Given the description of an element on the screen output the (x, y) to click on. 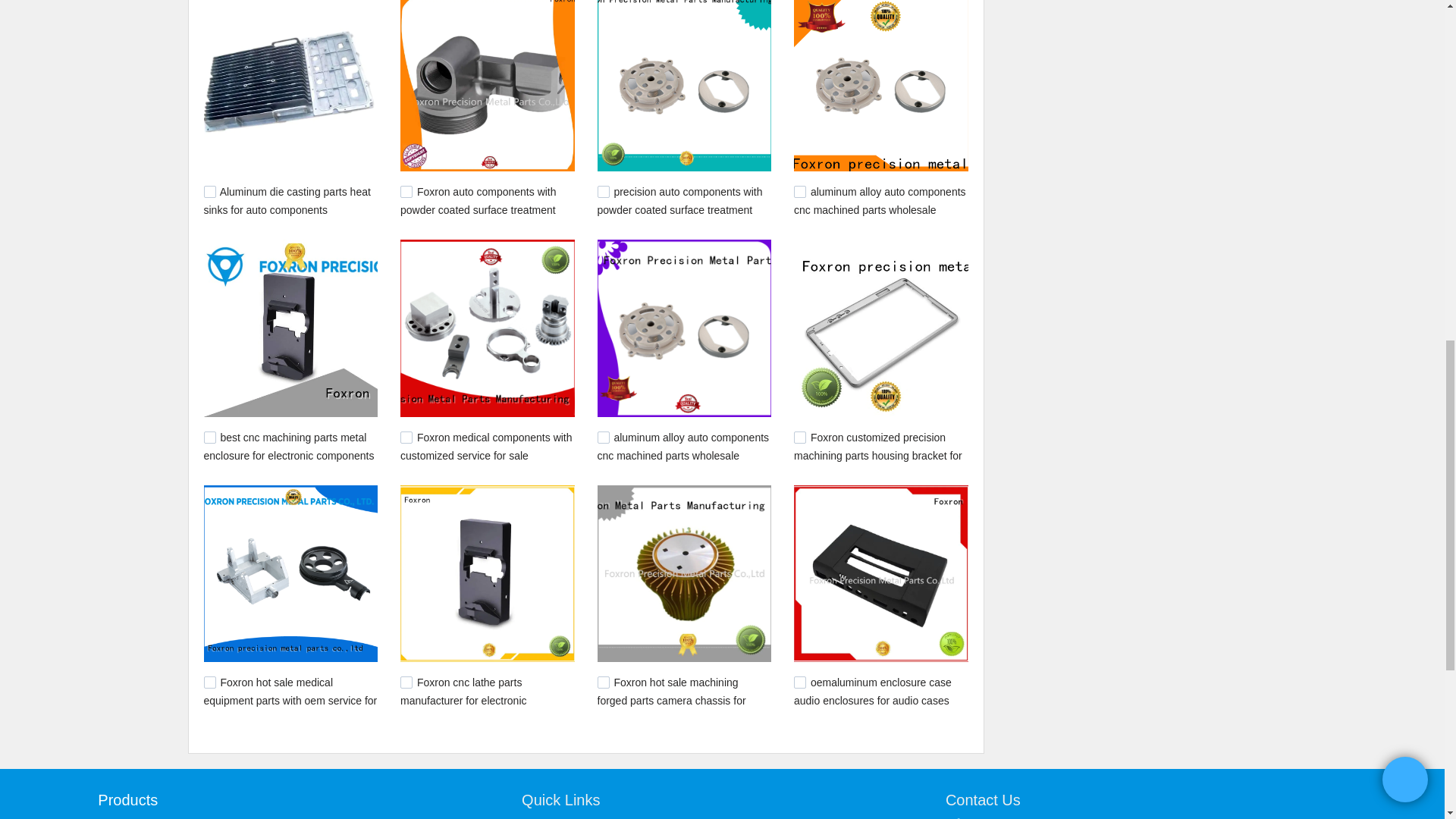
Aluminum die casting parts heat sinks for auto components (286, 200)
1838 (209, 437)
1773 (406, 437)
2906 (799, 191)
1533 (209, 682)
3546 (603, 191)
661 (209, 191)
810 (603, 682)
Foxron medical components with customized service for sale (486, 446)
1122 (406, 682)
1768 (603, 437)
